Given the description of an element on the screen output the (x, y) to click on. 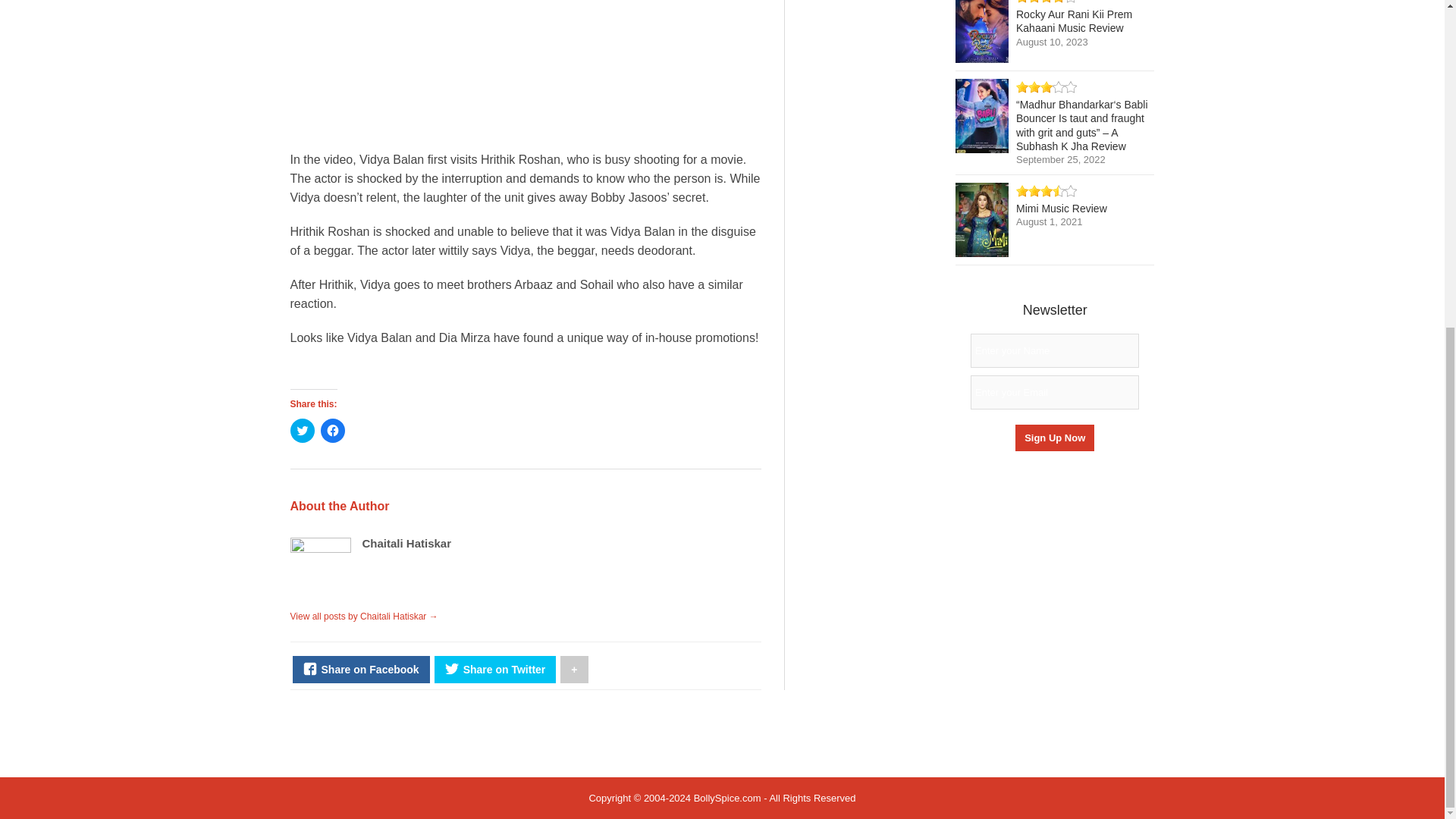
Click to share on Twitter (301, 430)
September 25, 2022 (1060, 159)
August 10, 2023 (1051, 41)
Click to share on Facebook (331, 430)
Rocky Aur Rani Kii Prem Kahaani Music Review (1074, 21)
Sign Up Now (1054, 438)
